Given the description of an element on the screen output the (x, y) to click on. 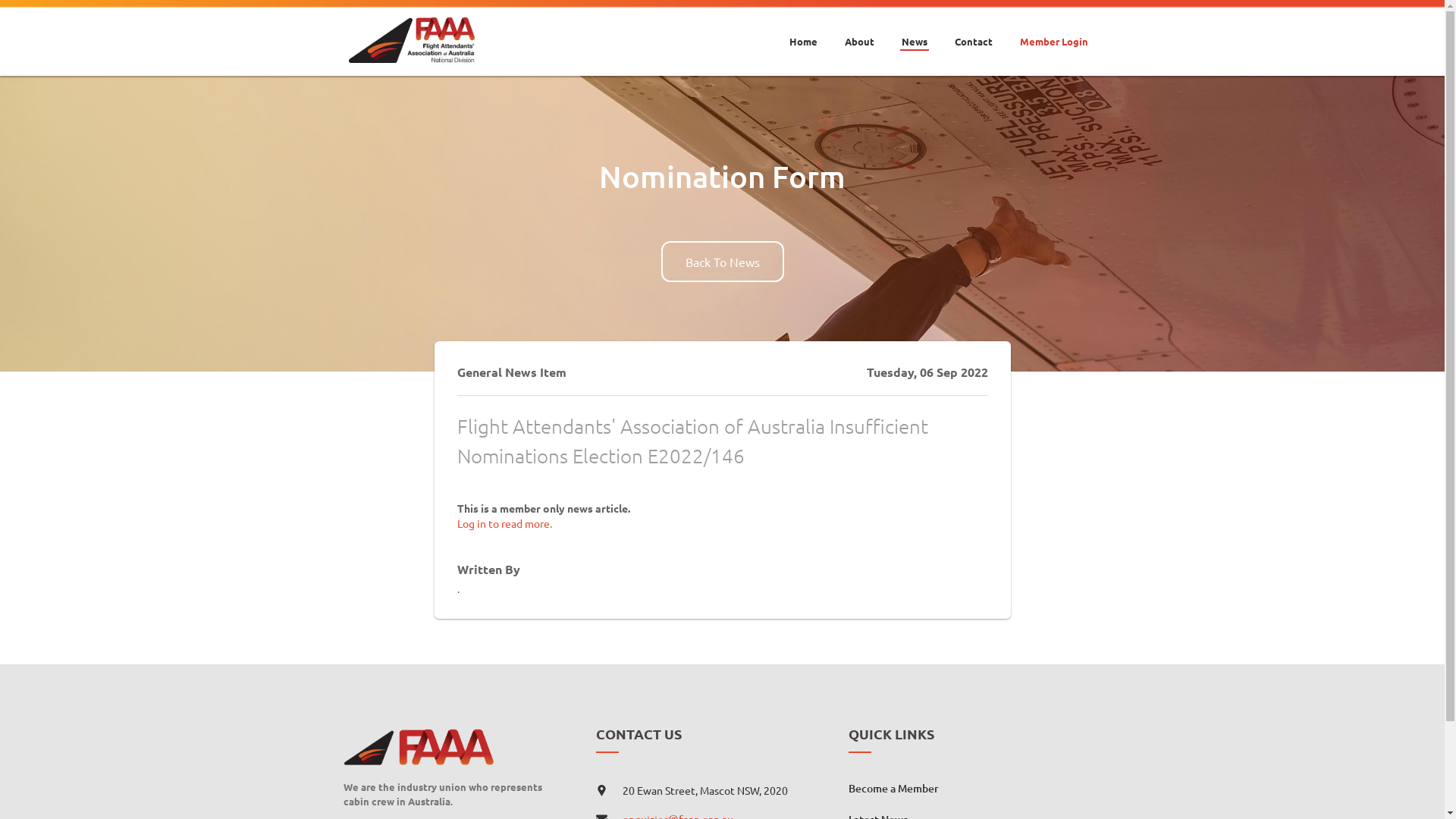
Home Element type: text (802, 30)
Contact Element type: text (972, 30)
Become a Member Element type: text (893, 788)
News Element type: text (913, 30)
About Element type: text (859, 30)
Back To News Element type: text (722, 261)
Member Login Element type: text (1053, 30)
Log in to read more. Element type: text (503, 523)
